Given the description of an element on the screen output the (x, y) to click on. 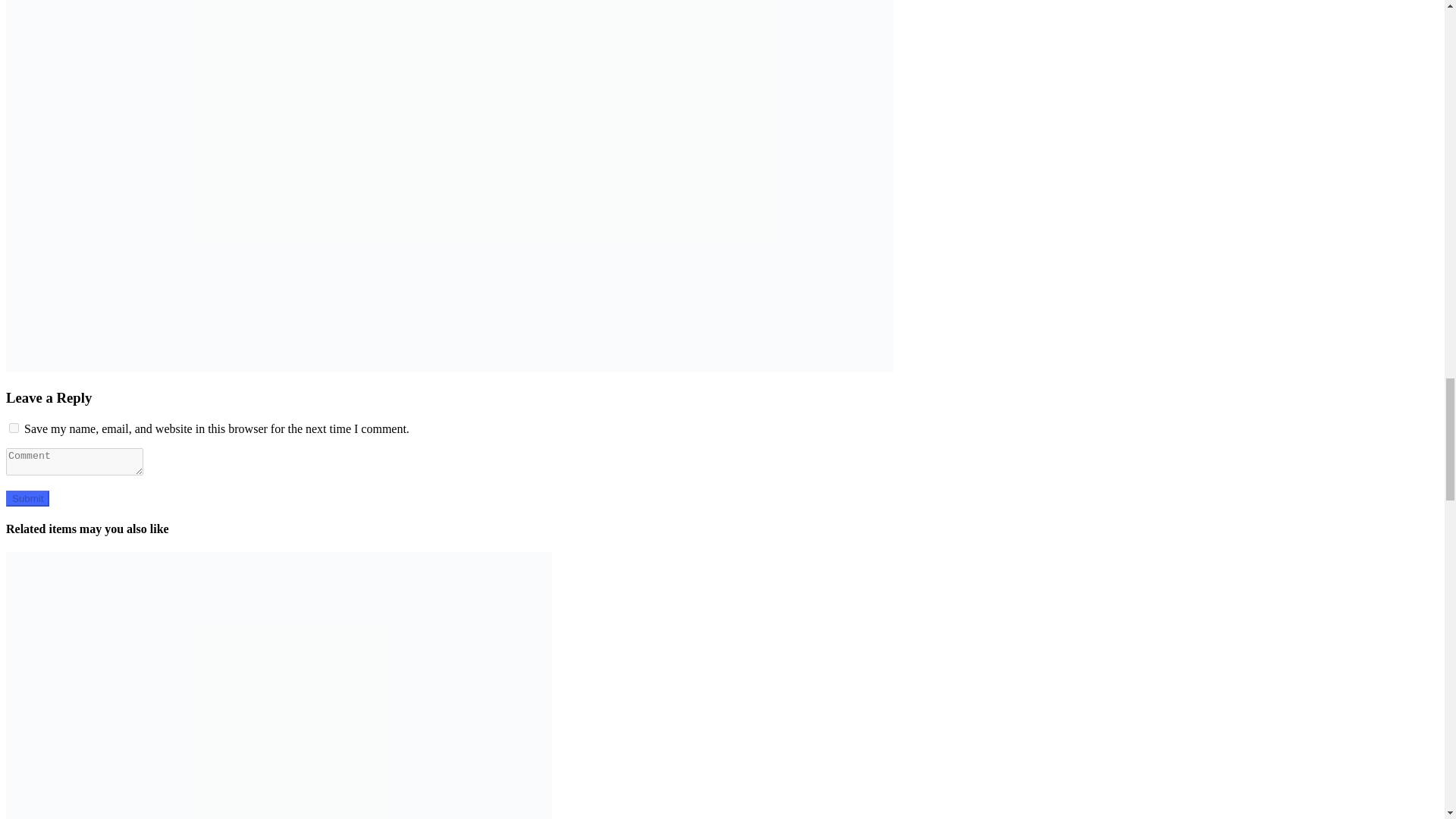
yes (13, 428)
